Given the description of an element on the screen output the (x, y) to click on. 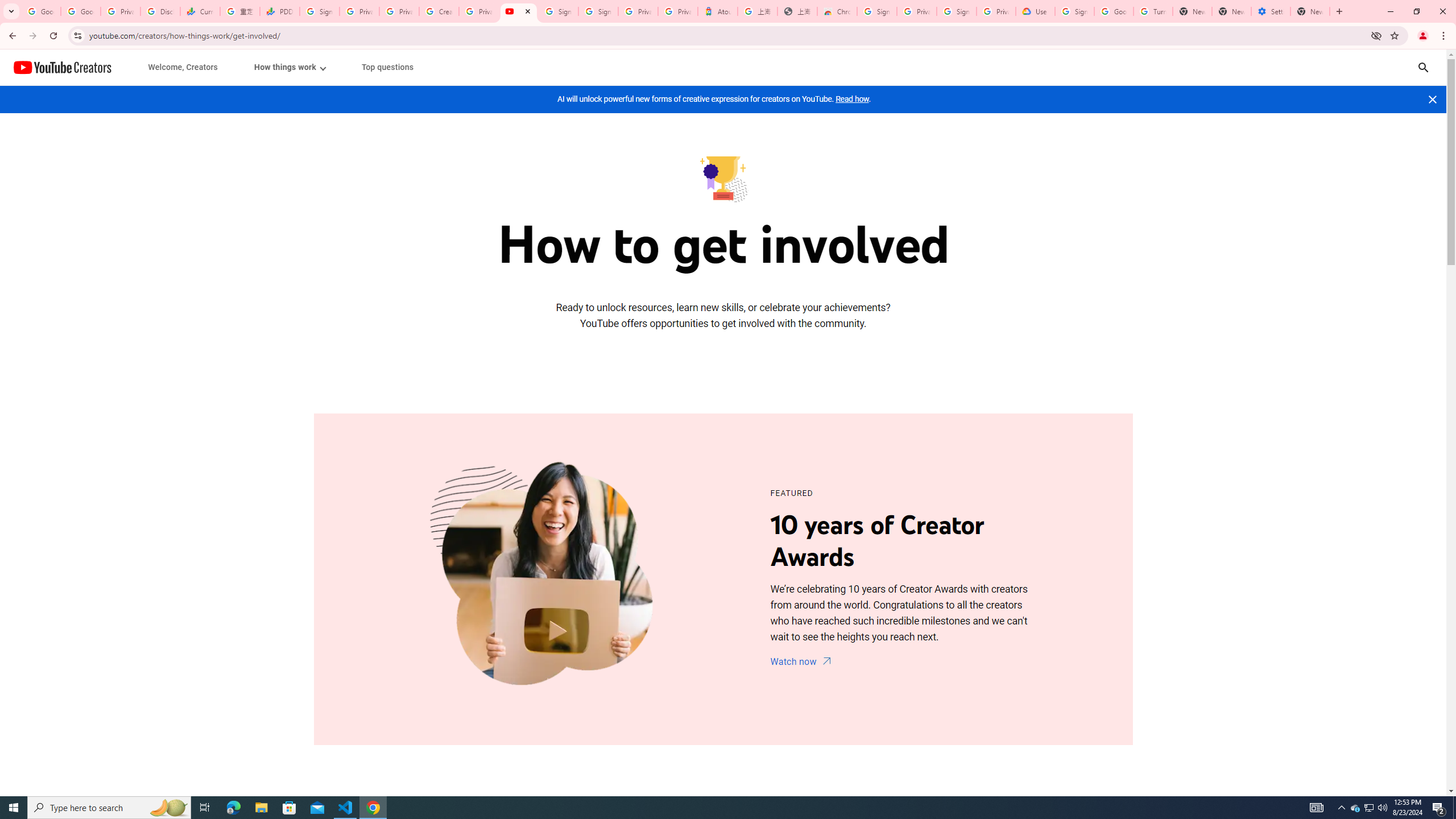
Privacy Checkup (398, 11)
Google Account Help (1113, 11)
Content Creator Programs & Opportunities - YouTube Creators (518, 11)
Settings - System (1270, 11)
Sign in - Google Accounts (876, 11)
PDD Holdings Inc - ADR (PDD) Price & News - Google Finance (279, 11)
Watch now (802, 662)
10 years of Creator Awards (546, 578)
